Given the description of an element on the screen output the (x, y) to click on. 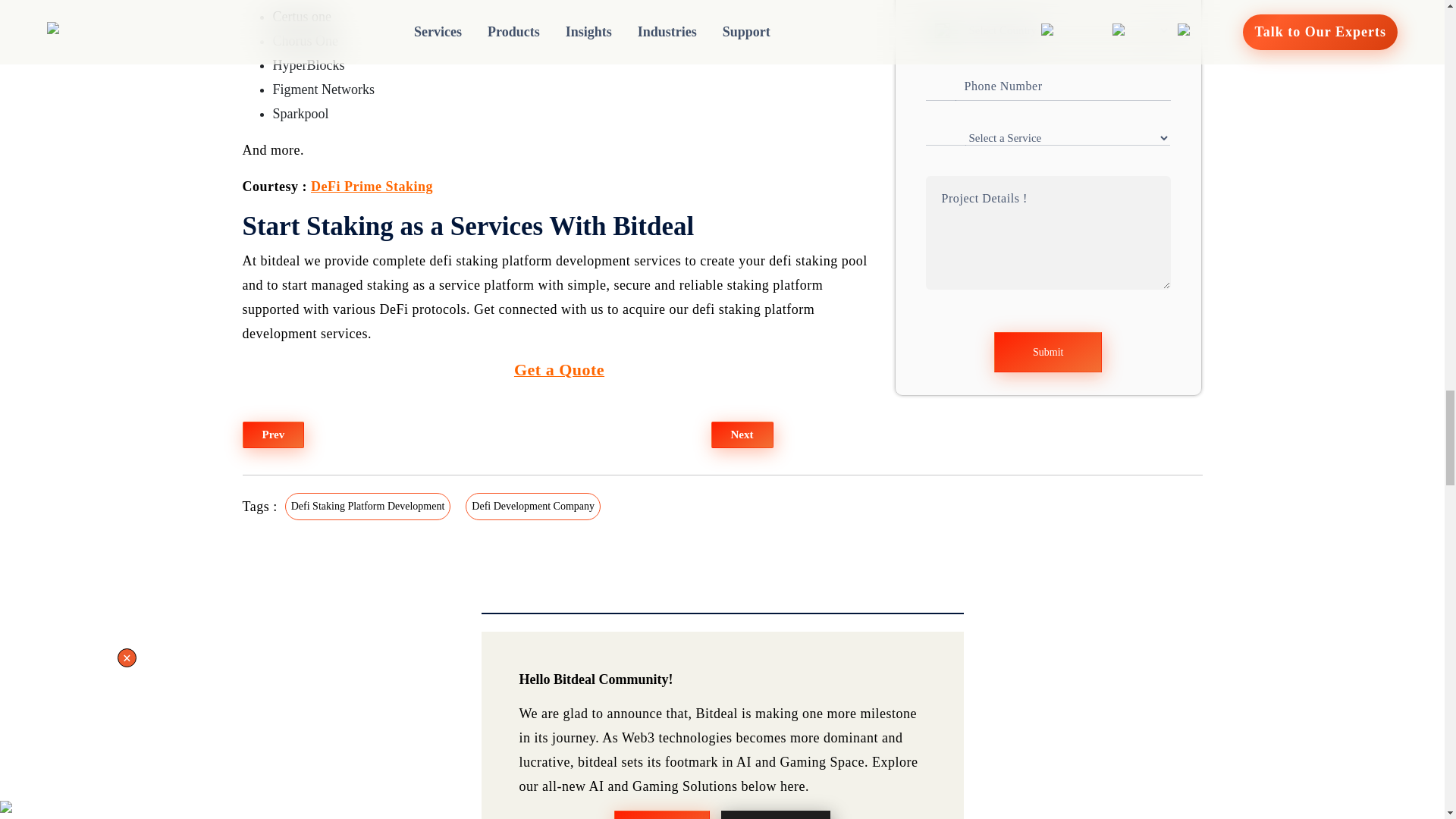
Game Development (774, 814)
Defi Development Company (533, 504)
Next (742, 434)
Prev (273, 434)
AI Development (662, 814)
Defi Staking Platform Development (368, 504)
Get a Quote (558, 370)
DeFi Prime Staking (371, 186)
